Given the description of an element on the screen output the (x, y) to click on. 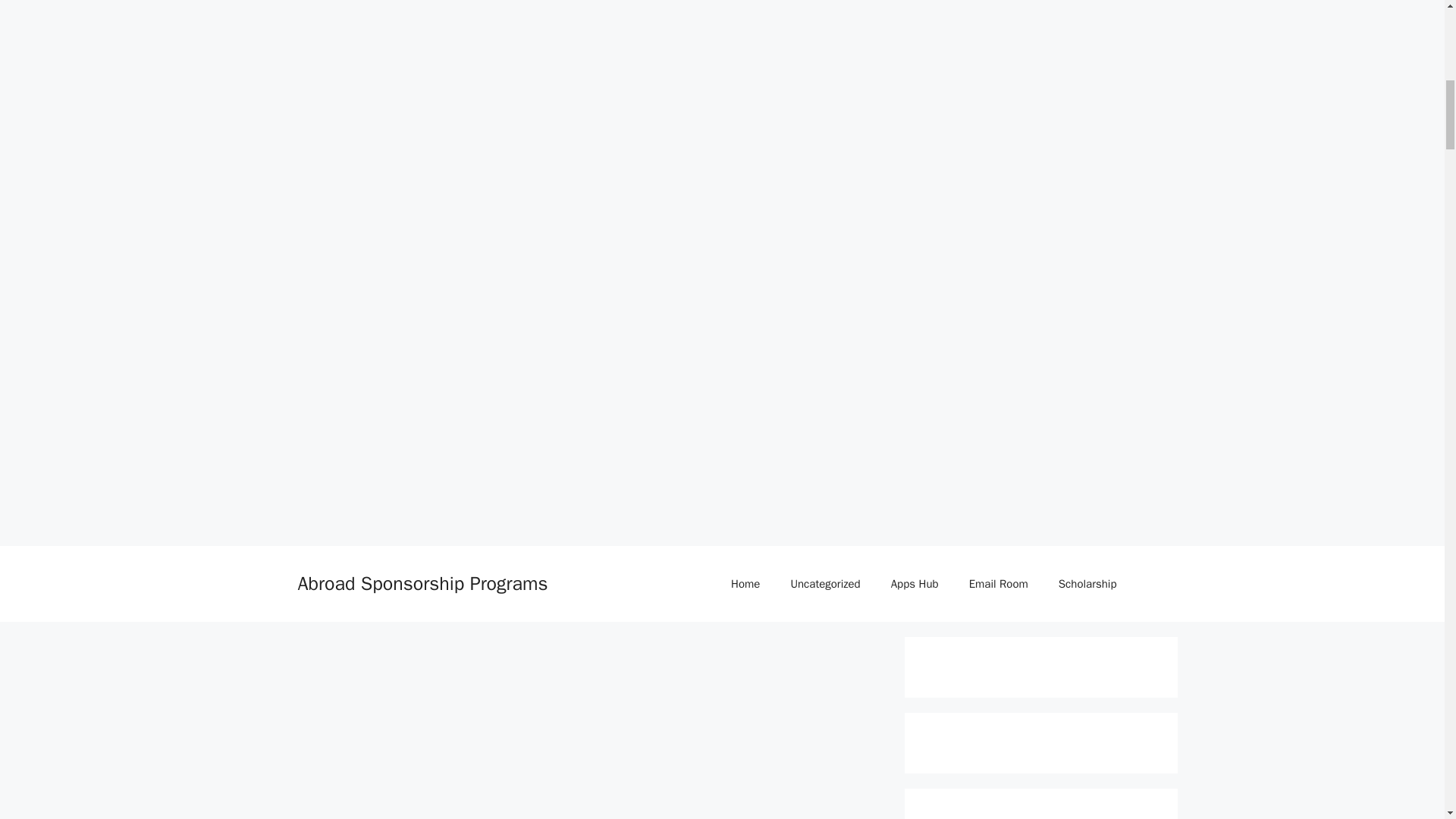
Apps Hub (914, 583)
Home (745, 583)
Scholarship (1087, 583)
Uncategorized (824, 583)
Email Room (998, 583)
Abroad Sponsorship Programs (422, 583)
